Given the description of an element on the screen output the (x, y) to click on. 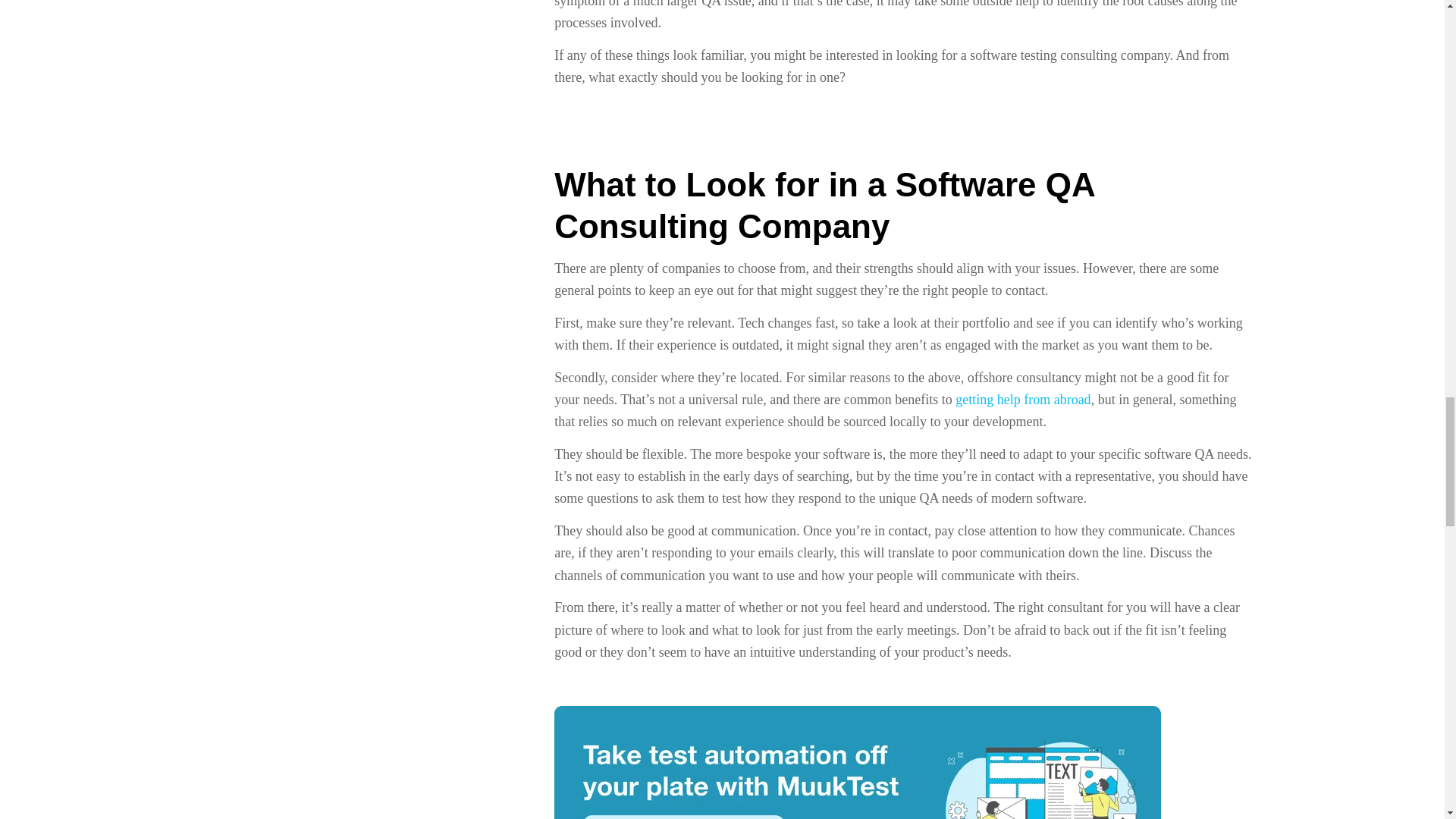
getting help from abroad (1022, 399)
Embedded CTA (857, 762)
